Given the description of an element on the screen output the (x, y) to click on. 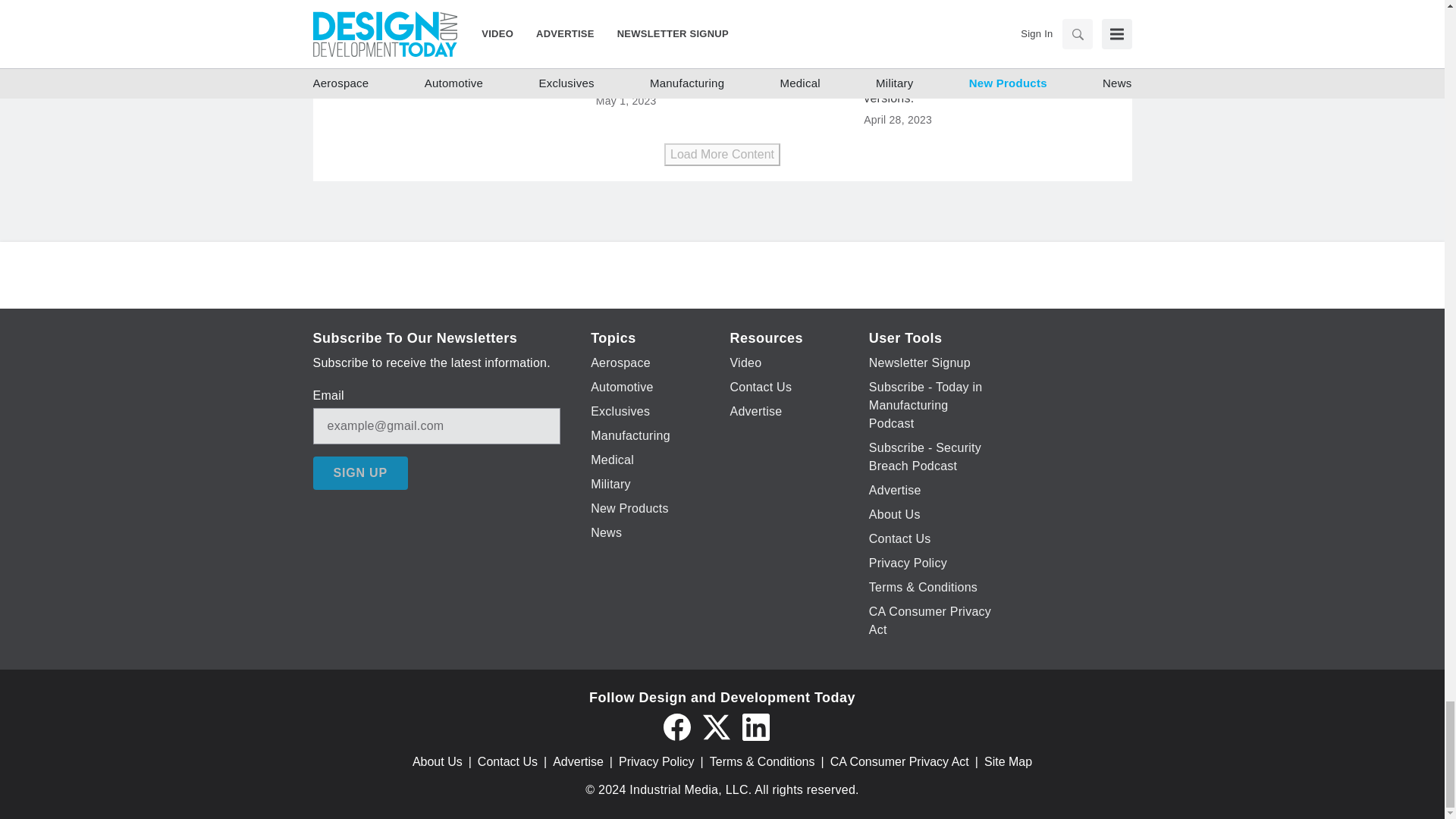
LinkedIn icon (754, 727)
Twitter X icon (715, 727)
Facebook icon (676, 727)
